Given the description of an element on the screen output the (x, y) to click on. 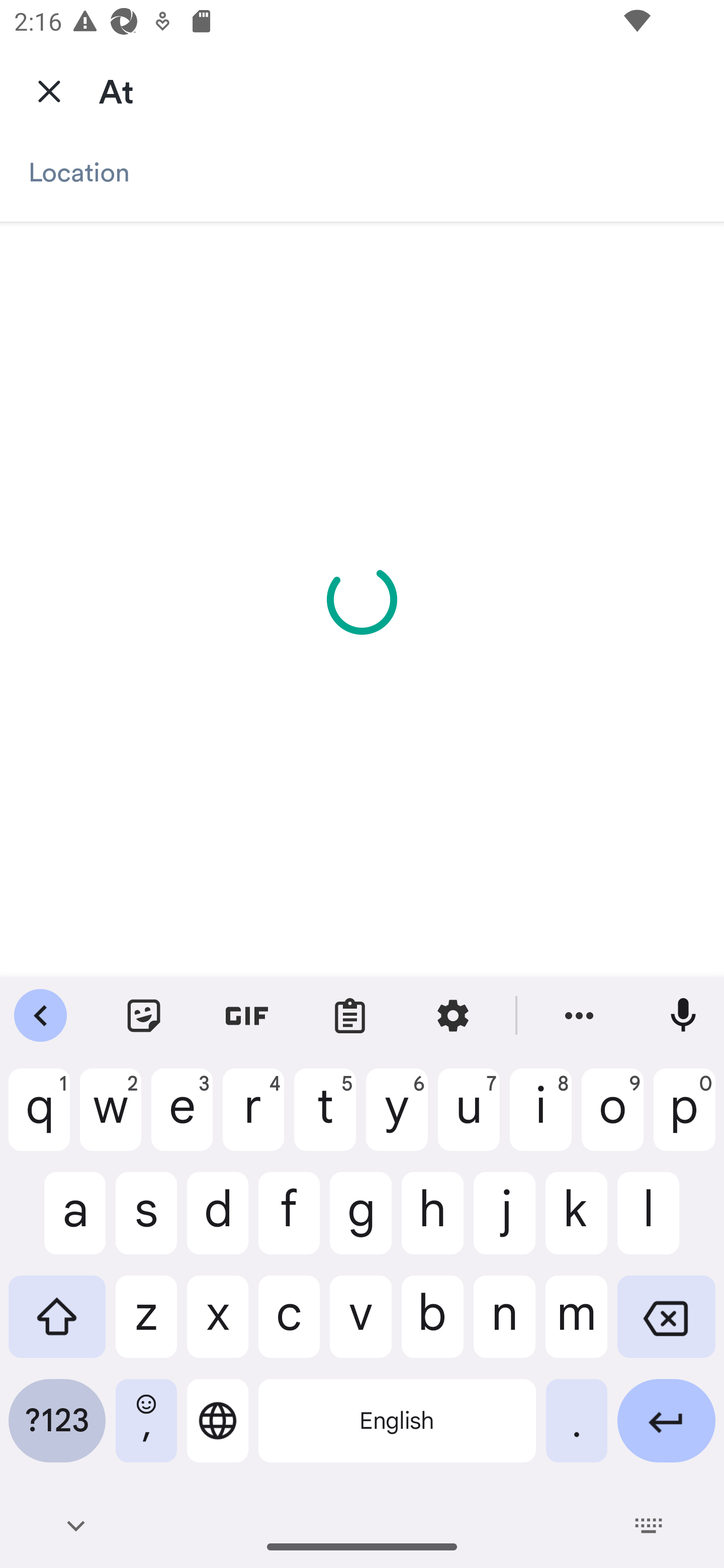
Navigate up (49, 90)
